Given the description of an element on the screen output the (x, y) to click on. 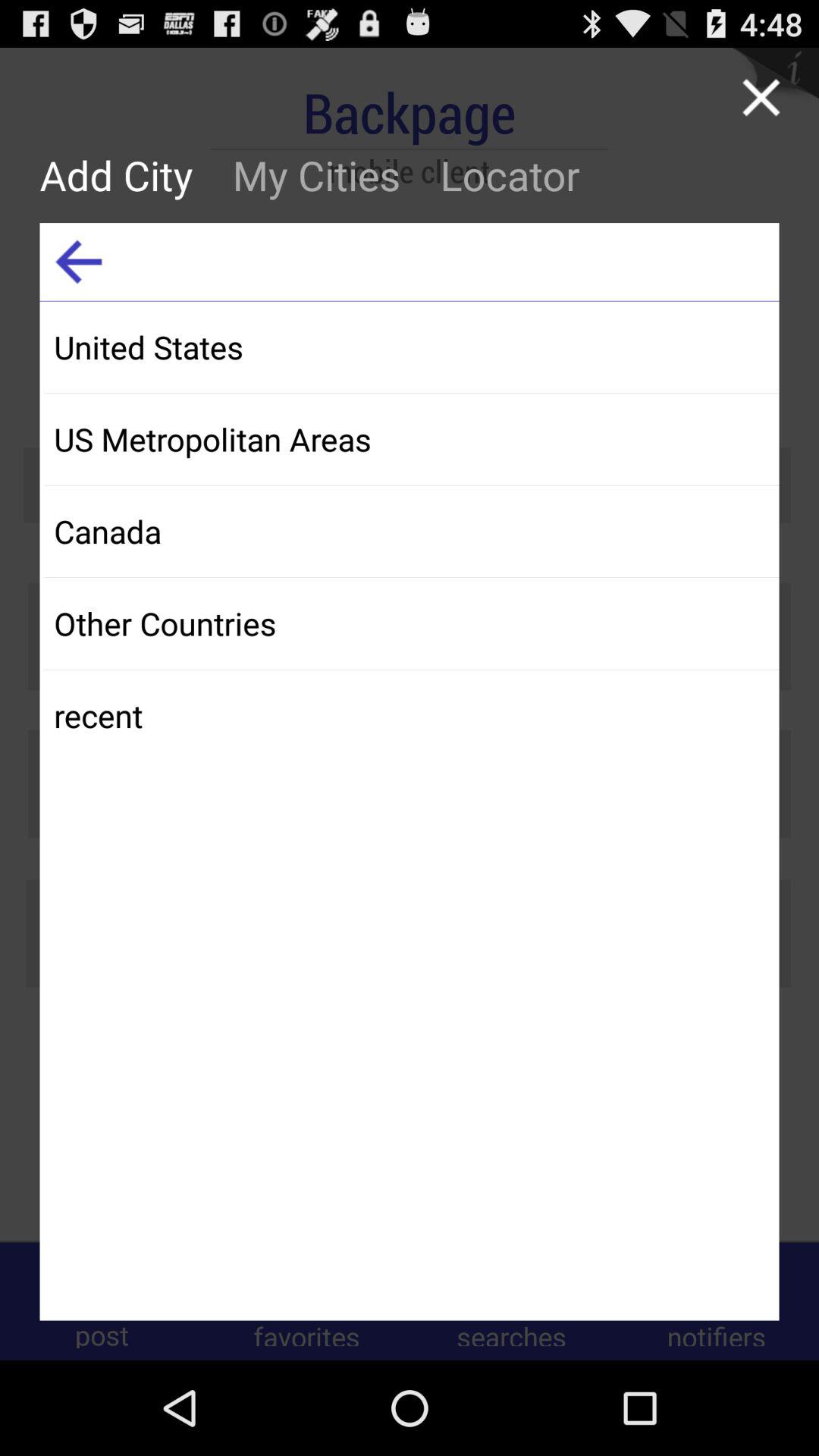
turn on item next to the my cities icon (509, 174)
